Given the description of an element on the screen output the (x, y) to click on. 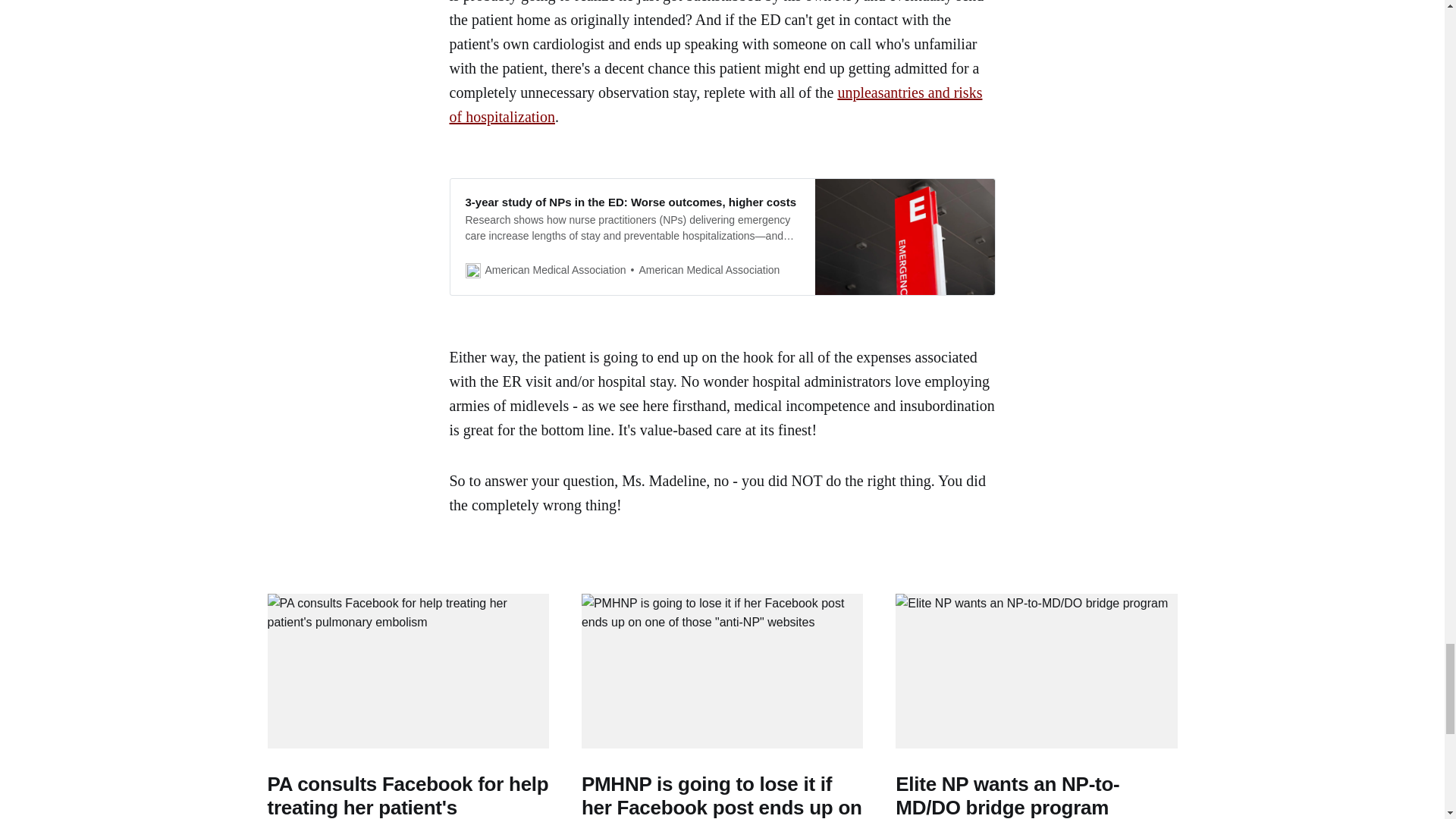
unpleasantries and risks of hospitalization (714, 104)
